Given the description of an element on the screen output the (x, y) to click on. 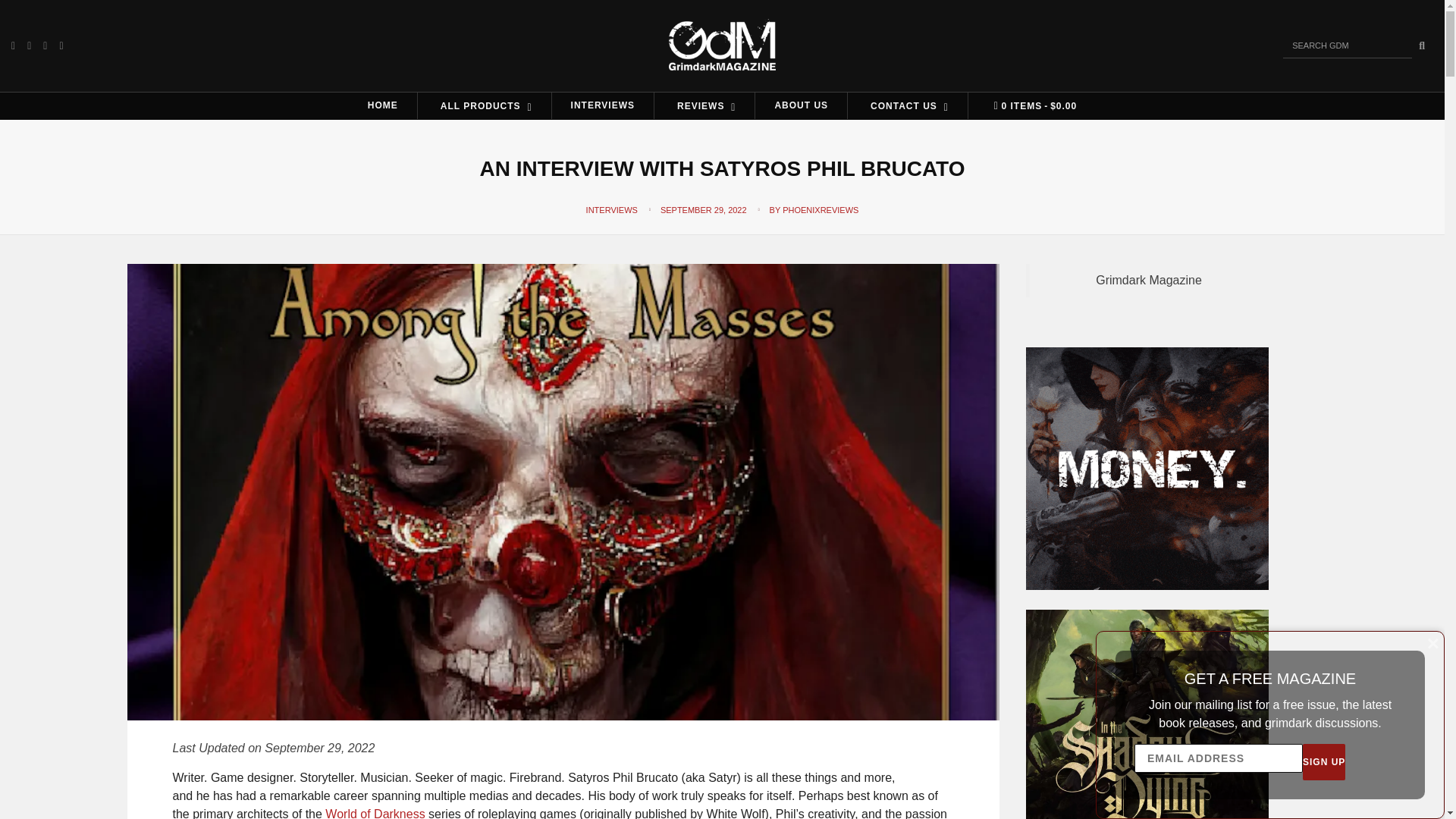
REVIEWS (703, 105)
World of Darkness (374, 813)
Sign up (1324, 761)
PHOENIXREVIEWS (821, 209)
ABOUT US (801, 105)
INTERVIEWS (602, 105)
Start shopping (1032, 105)
INTERVIEWS (611, 209)
HOME (382, 105)
ALL PRODUCTS (484, 105)
Search (1421, 45)
CONTACT US (907, 105)
